Given the description of an element on the screen output the (x, y) to click on. 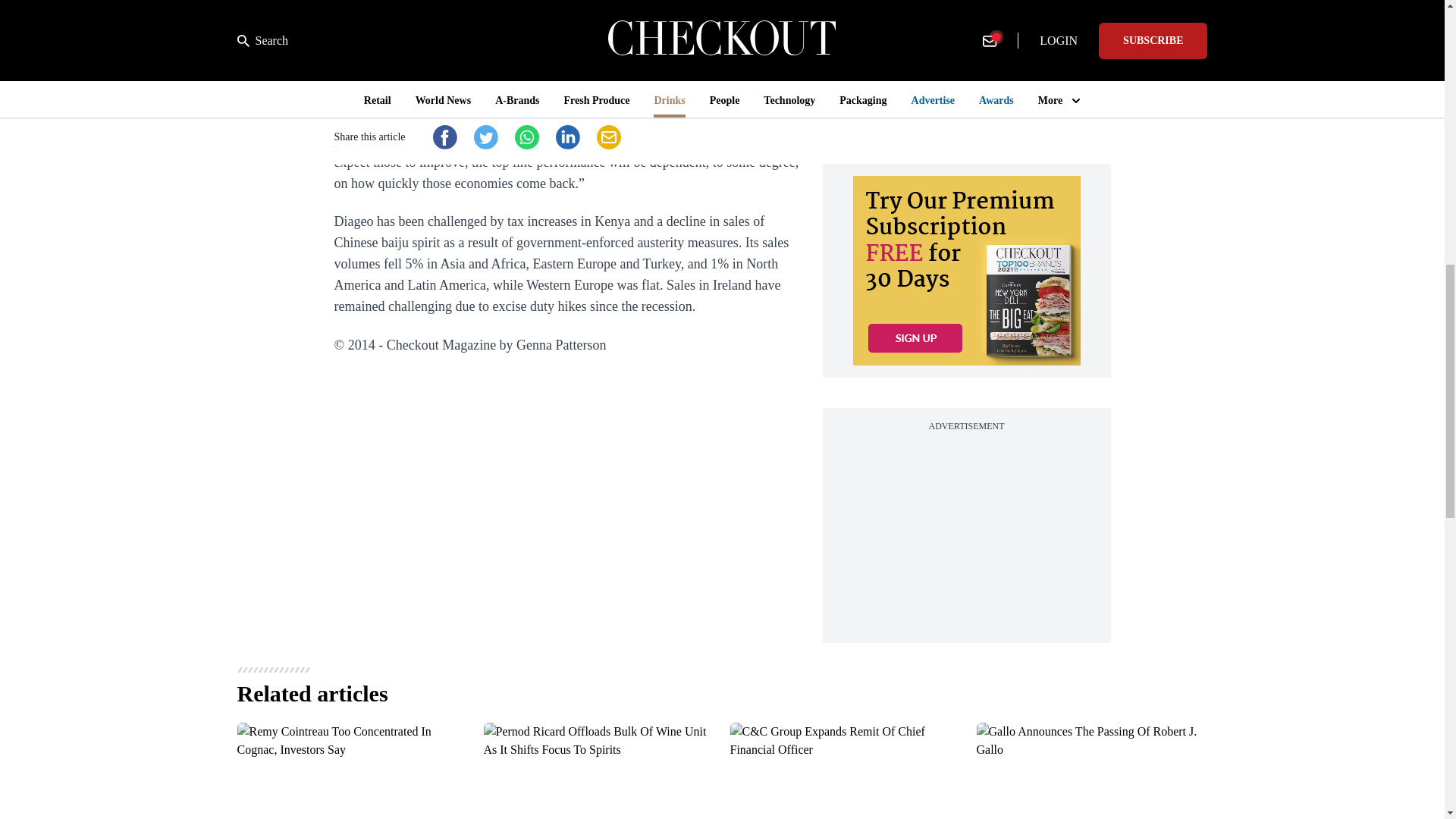
Diageo (352, 140)
